Given the description of an element on the screen output the (x, y) to click on. 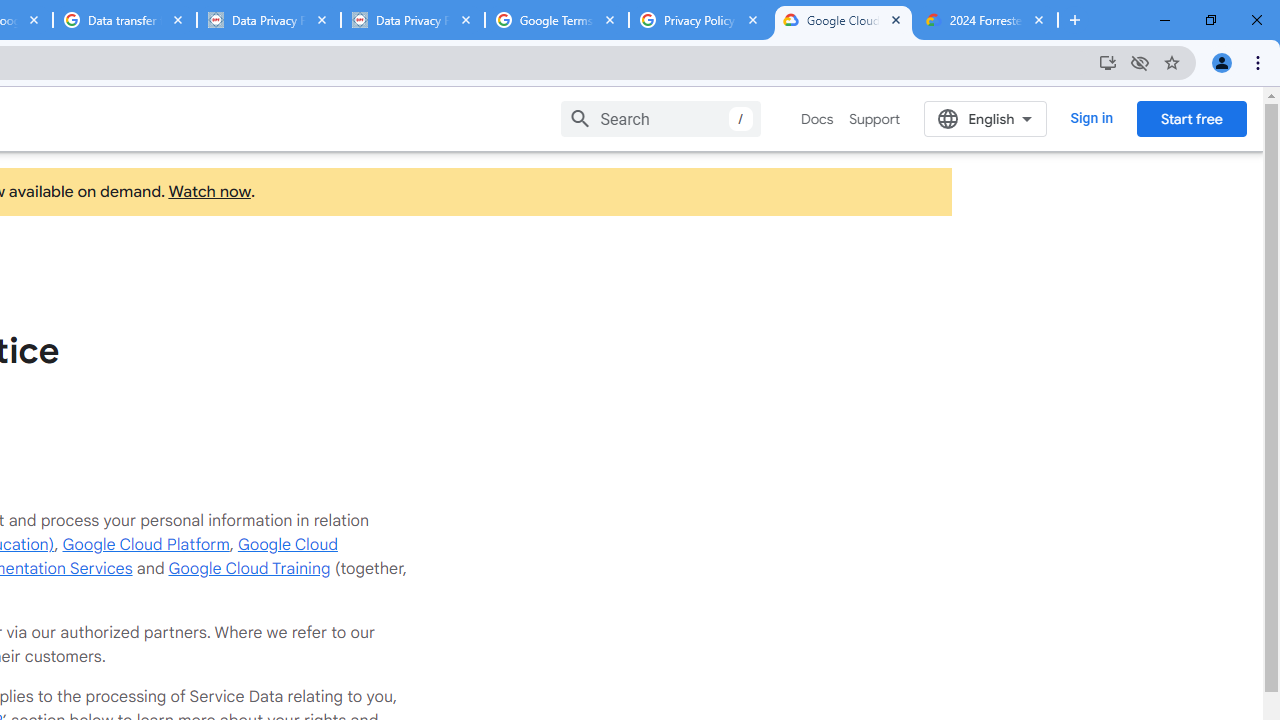
Data Privacy Framework (268, 20)
Watch now (208, 192)
Google Cloud Privacy Notice (843, 20)
Install Google Cloud (1107, 62)
Google Cloud Training (249, 568)
Data Privacy Framework (412, 20)
Support (874, 119)
Docs (817, 119)
English (985, 118)
Google Cloud Platform (145, 544)
